Given the description of an element on the screen output the (x, y) to click on. 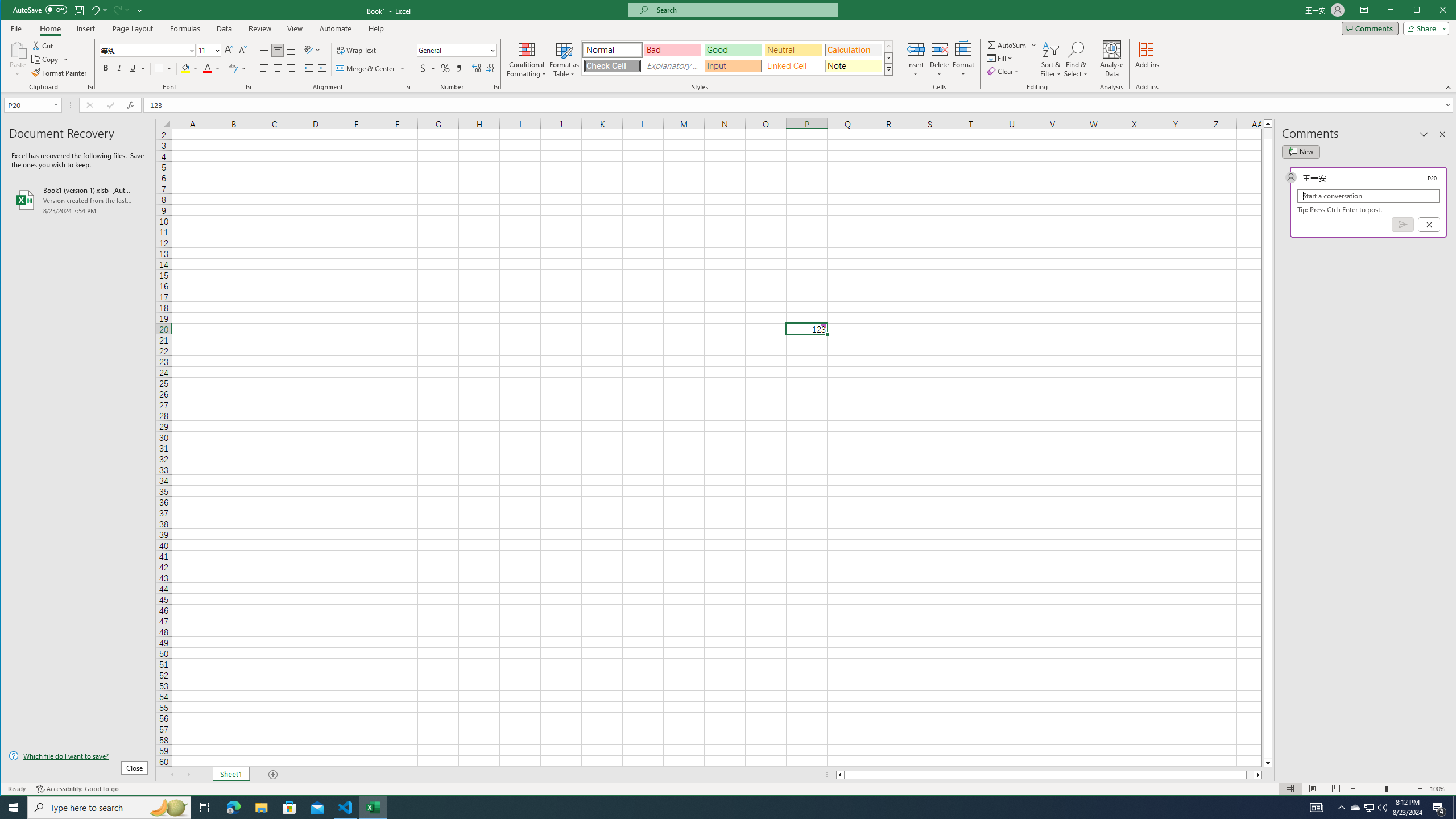
Underline (137, 68)
AutoSum (1012, 44)
Format Painter (59, 72)
Increase Indent (322, 68)
Format Cell Font (248, 86)
Font Color RGB(255, 0, 0) (207, 68)
AutomationID: CellStylesGallery (736, 57)
Check Cell (612, 65)
Type here to search (108, 807)
Middle Align (276, 49)
Format as Table (564, 59)
Align Left (263, 68)
